Given the description of an element on the screen output the (x, y) to click on. 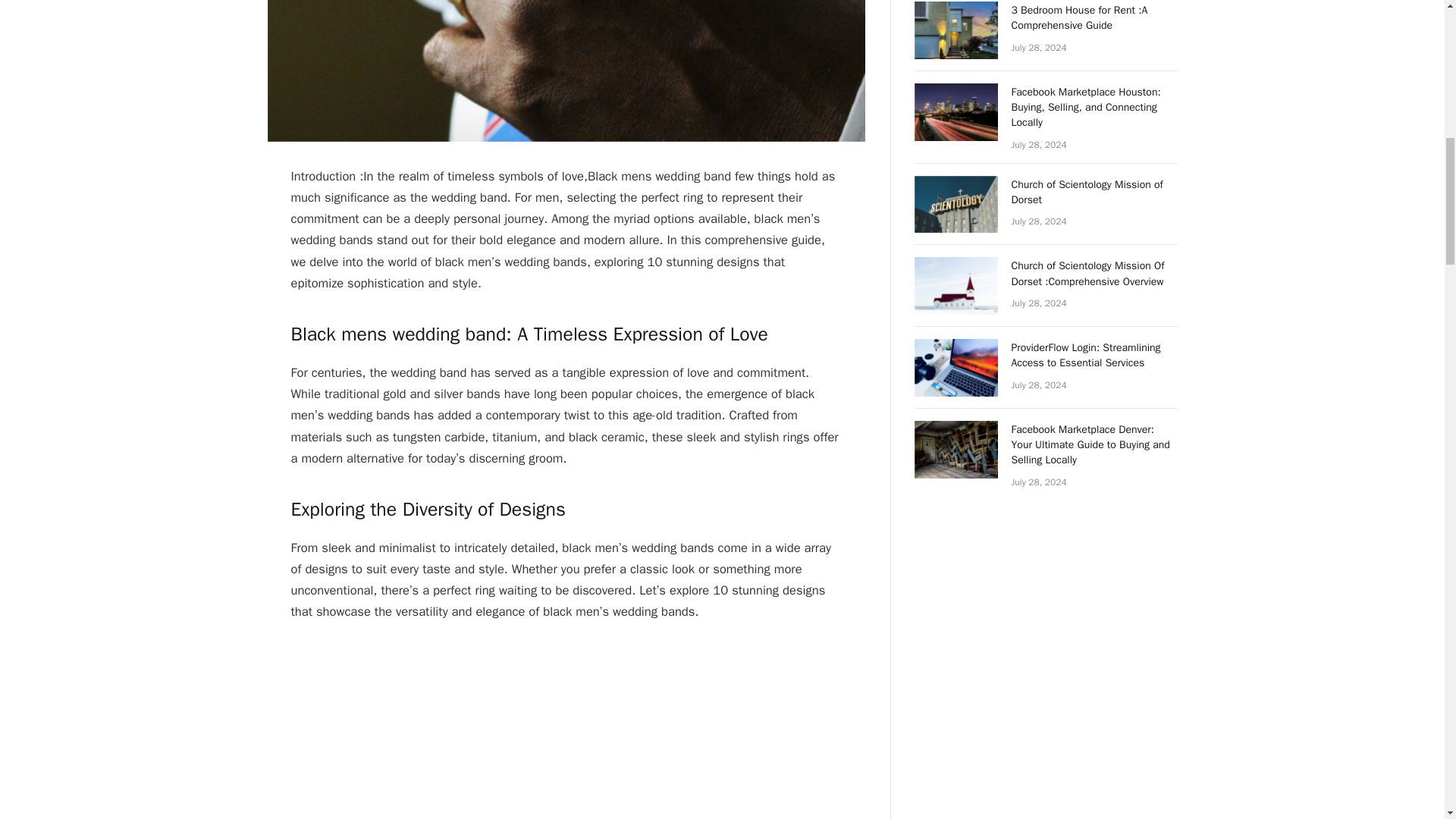
3 Bedroom House for Rent :A Comprehensive Guide (1094, 18)
Advertisement (575, 730)
Black Mens Wedding Band :Designs (565, 70)
